Given the description of an element on the screen output the (x, y) to click on. 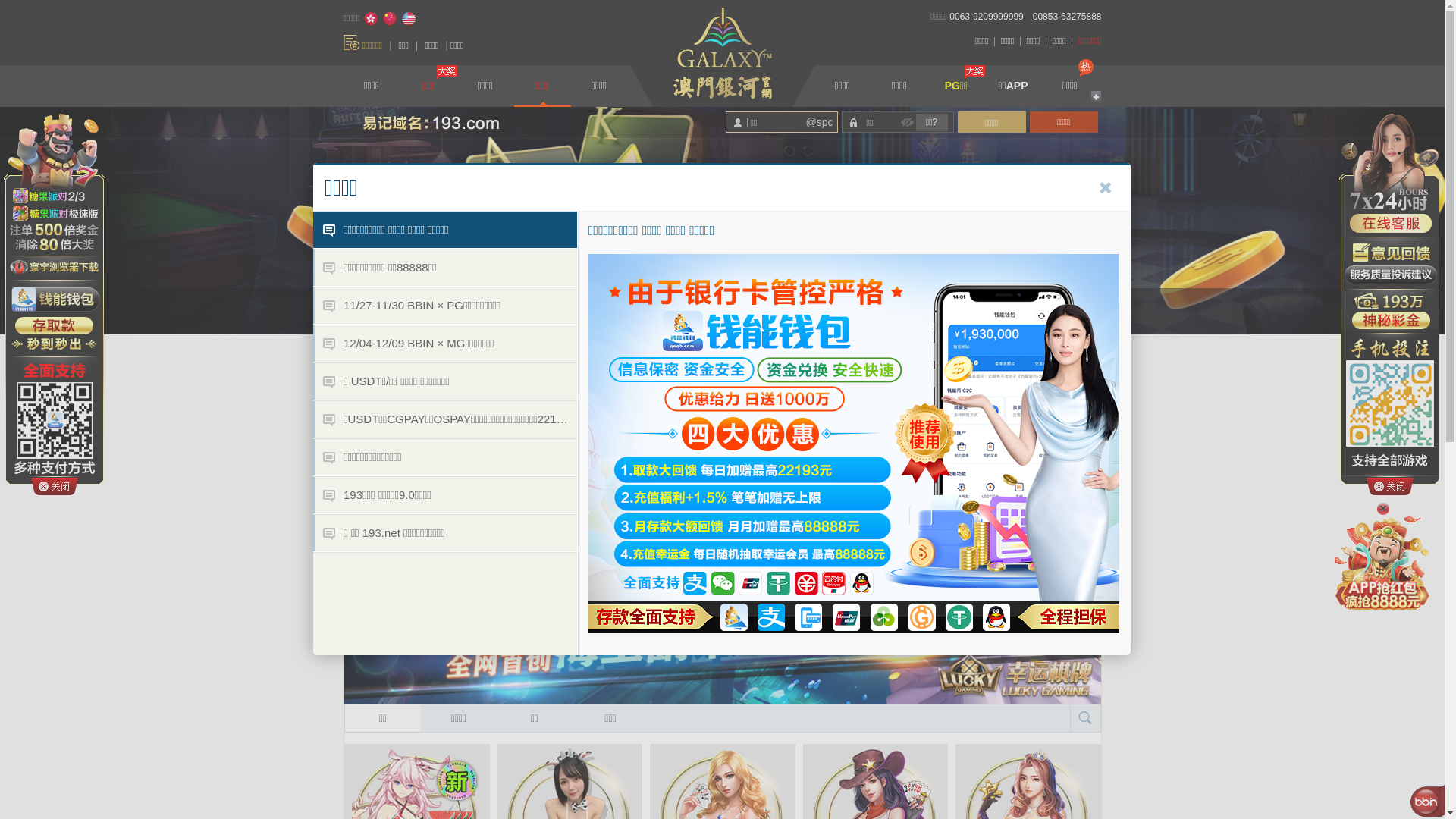
English Element type: hover (408, 18)
